Given the description of an element on the screen output the (x, y) to click on. 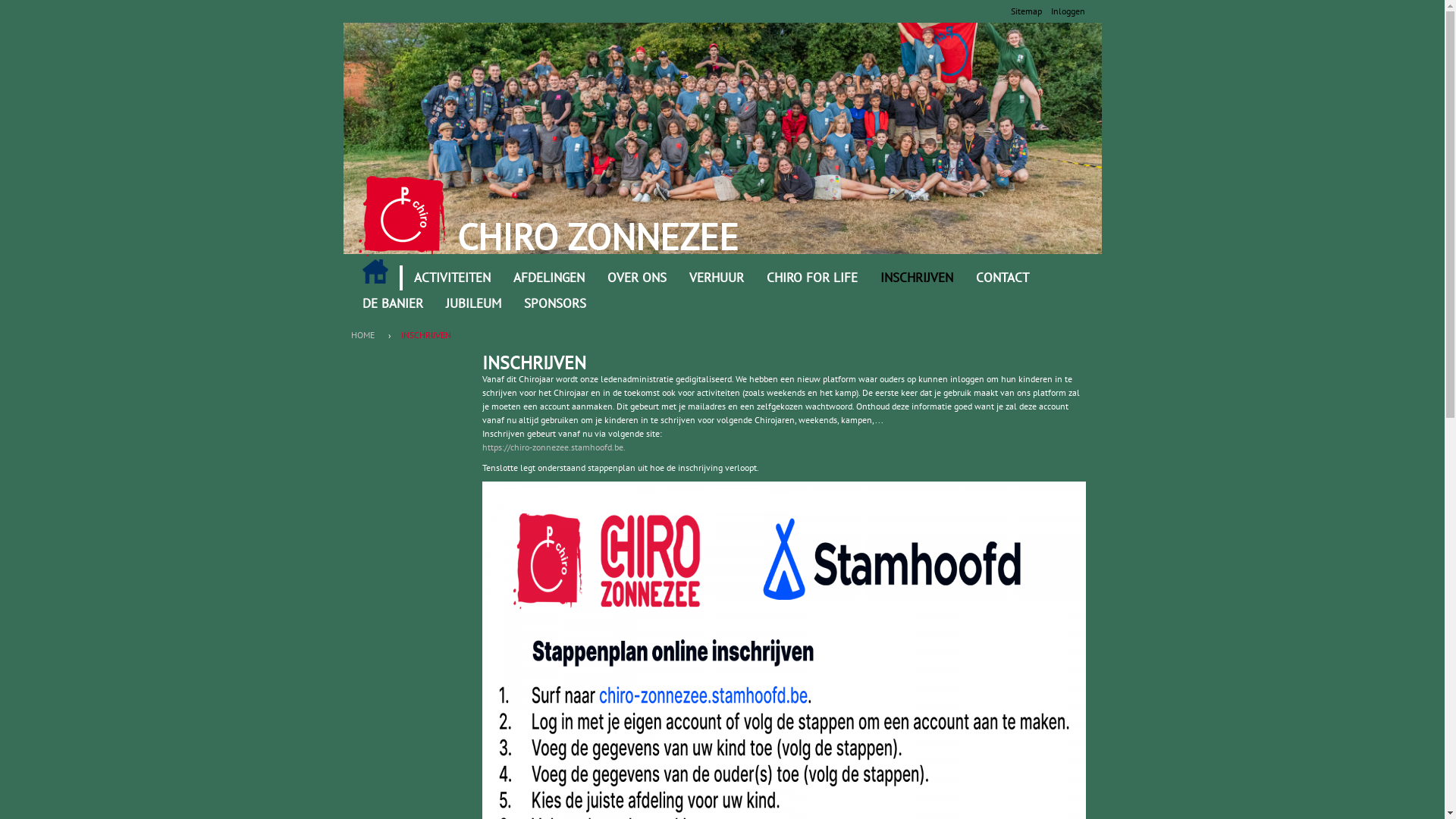
Sitemap Element type: text (1025, 10)
JUBILEUM Element type: text (472, 303)
HOME Element type: text (374, 271)
VERHUUR Element type: text (716, 278)
CHIRO ZONNEZEE Element type: text (596, 236)
Home Element type: hover (401, 215)
https://chiro-zonnezee.stamhoofd.be. Element type: text (553, 446)
INSCHRIJVEN Element type: text (916, 278)
CHIRO FOR LIFE Element type: text (812, 278)
HOME Element type: text (365, 334)
SPONSORS Element type: text (554, 303)
DE BANIER Element type: text (391, 303)
Inloggen Element type: text (1068, 10)
OVER ONS Element type: text (636, 278)
AFDELINGEN Element type: text (549, 278)
CONTACT Element type: text (1002, 278)
Jump to navigation Element type: text (722, 2)
ACTIVITEITEN Element type: text (451, 278)
